Given the description of an element on the screen output the (x, y) to click on. 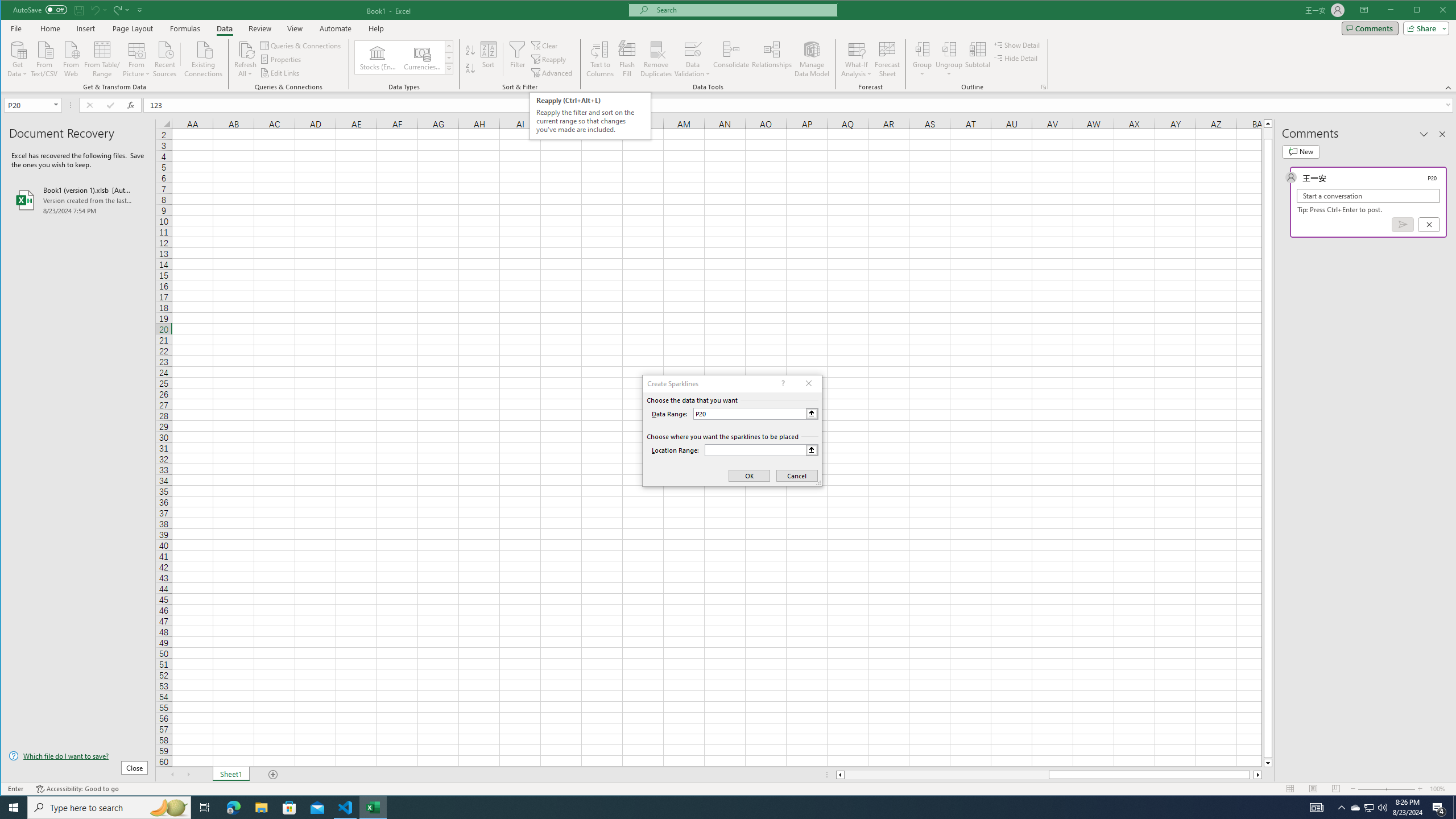
Sort Largest to Smallest (470, 68)
Cancel (1428, 224)
